Given the description of an element on the screen output the (x, y) to click on. 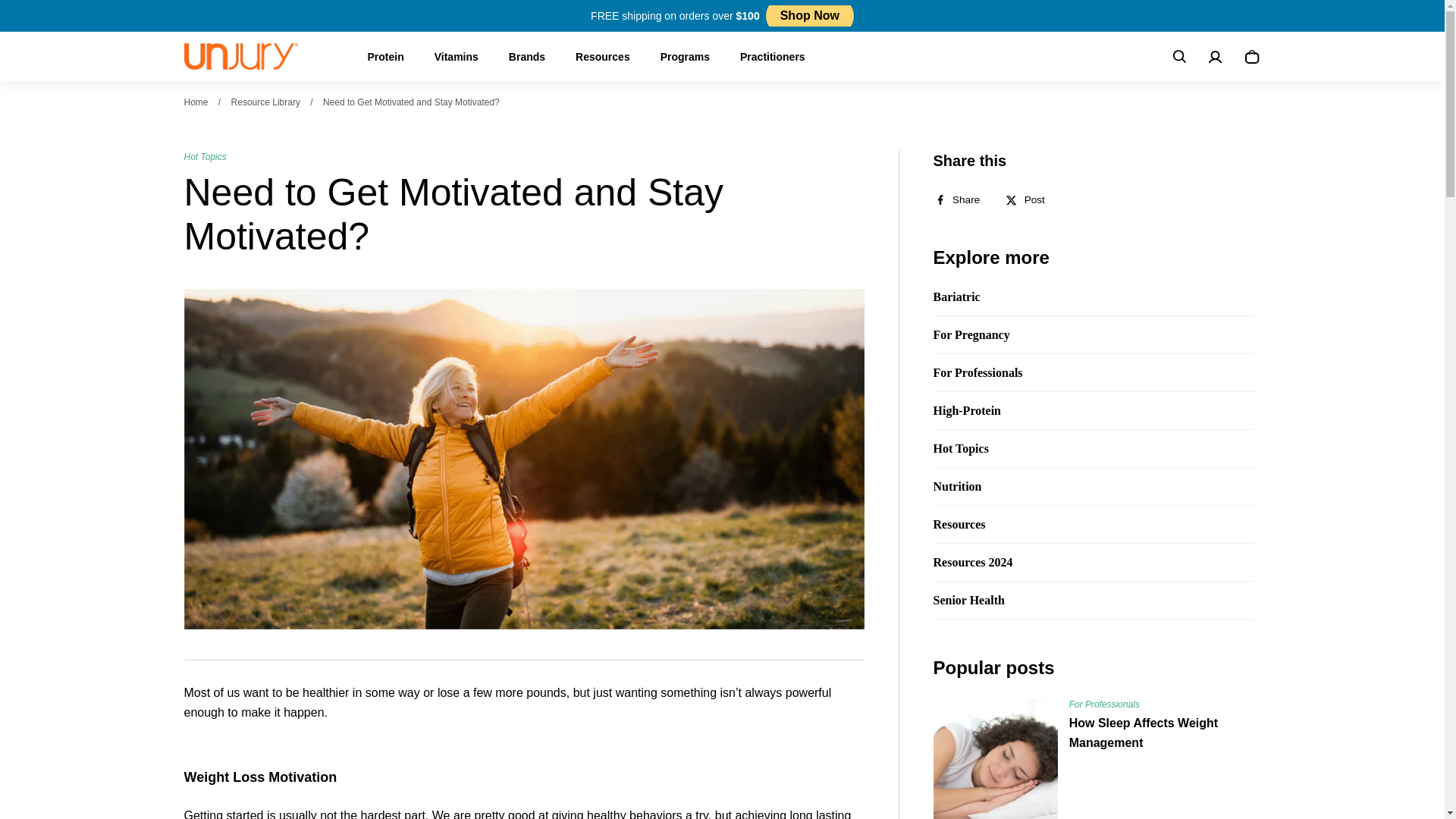
Share on Facebook (962, 199)
Shop Now (809, 17)
Search (1178, 56)
Tweet on Twitter (1030, 199)
Back to the frontpage (195, 102)
Cart (1251, 56)
Account (1214, 56)
